Given the description of an element on the screen output the (x, y) to click on. 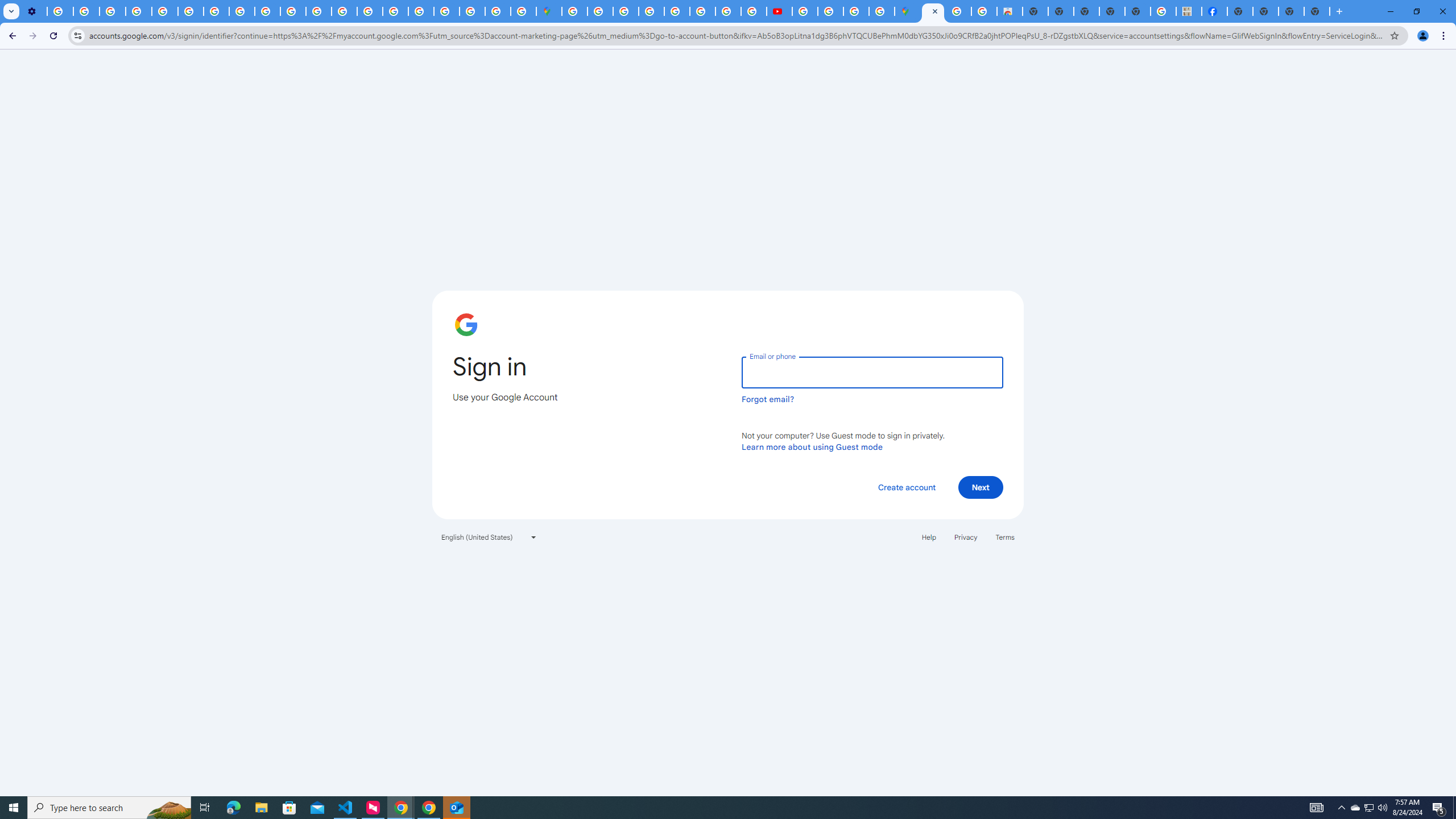
Help (928, 536)
Chrome Web Store - Shopping (1009, 11)
Search tabs (10, 11)
Sign in - Google Accounts (600, 11)
Privacy (965, 536)
https://scholar.google.com/ (318, 11)
Address and search bar (735, 35)
Reload (52, 35)
Google Account Help (138, 11)
You (1422, 35)
How Chrome protects your passwords - Google Chrome Help (804, 11)
Forward (32, 35)
Back (10, 35)
